Given the description of an element on the screen output the (x, y) to click on. 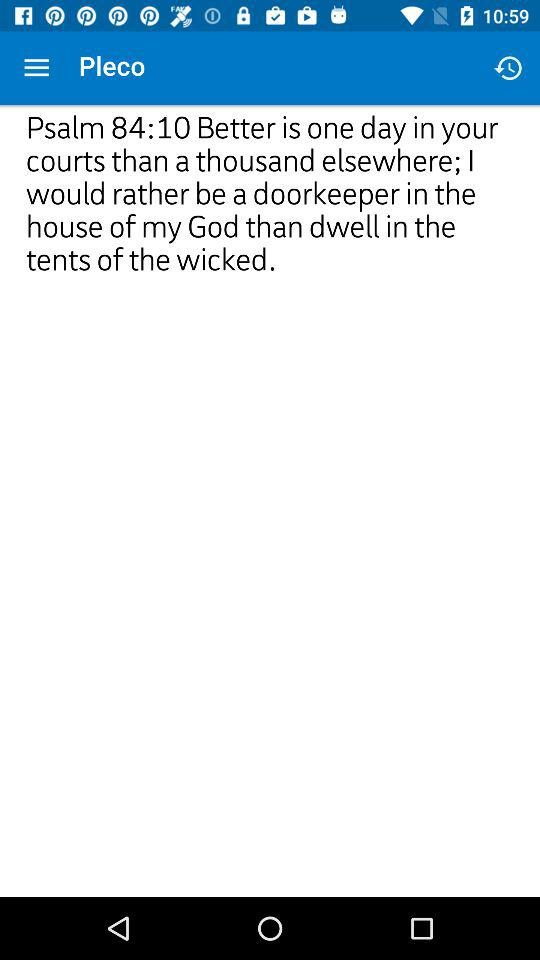
choose icon at the center (270, 320)
